Given the description of an element on the screen output the (x, y) to click on. 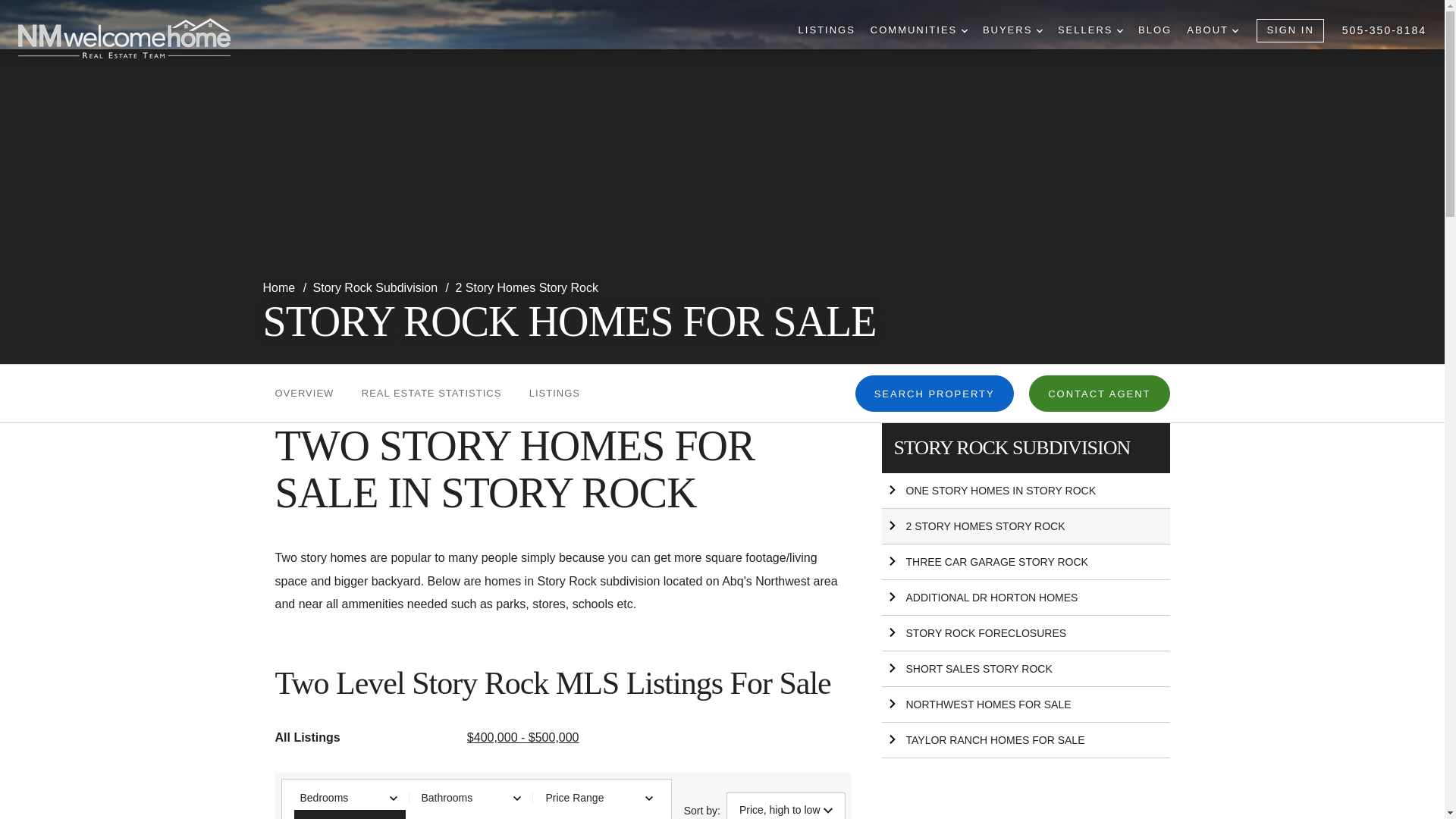
BUYERS DROPDOWN ARROW (1012, 30)
DROPDOWN ARROW (1235, 30)
BLOG (1155, 30)
COMMUNITIES DROPDOWN ARROW (919, 30)
DROPDOWN ARROW (964, 30)
DROPDOWN ARROW (1119, 30)
SELLERS DROPDOWN ARROW (1090, 30)
LISTINGS (826, 30)
DROPDOWN ARROW (1039, 30)
ABOUT DROPDOWN ARROW (1212, 30)
